Given the description of an element on the screen output the (x, y) to click on. 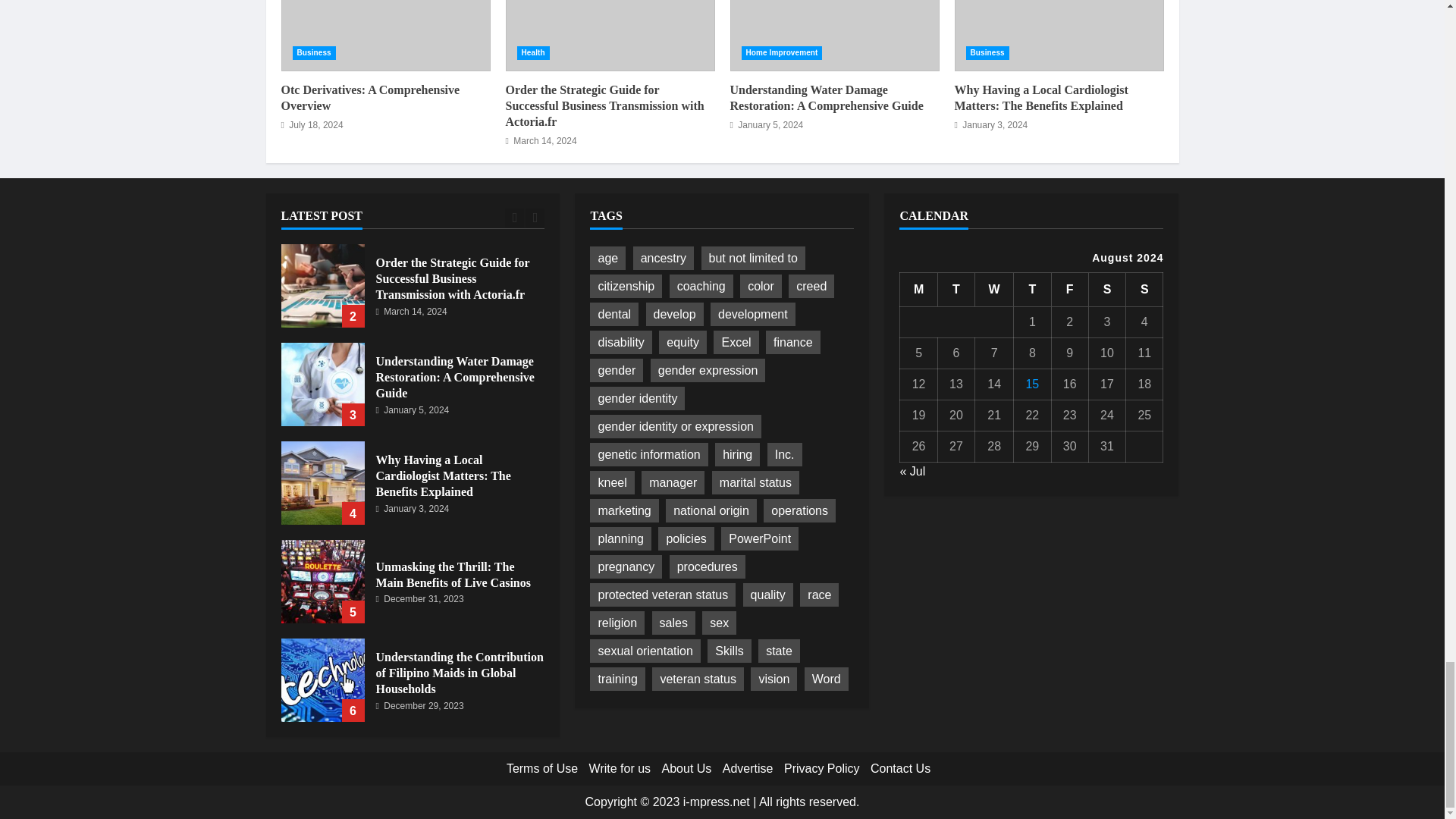
Wednesday (994, 289)
Saturday (1106, 289)
Thursday (1032, 289)
Tuesday (955, 289)
Friday (1069, 289)
Sunday (1144, 289)
Monday (918, 289)
